Given the description of an element on the screen output the (x, y) to click on. 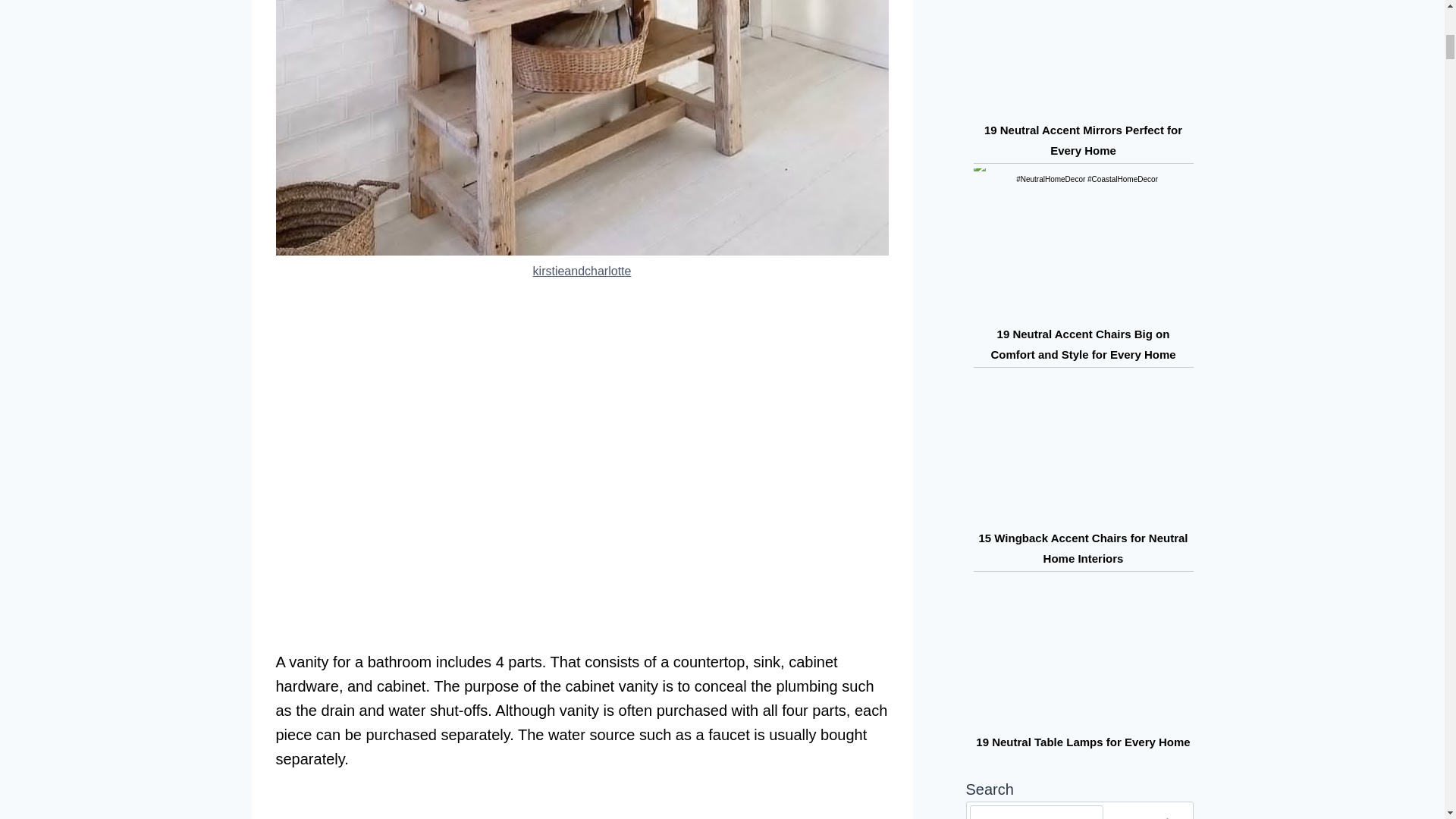
19 Neutral Accent Mirrors Perfect for Every Home (1083, 140)
19 Neutral Table Lamps for Every Home (1082, 741)
15 Wingback Accent Chairs for Neutral Home Interiors (1083, 548)
